Given the description of an element on the screen output the (x, y) to click on. 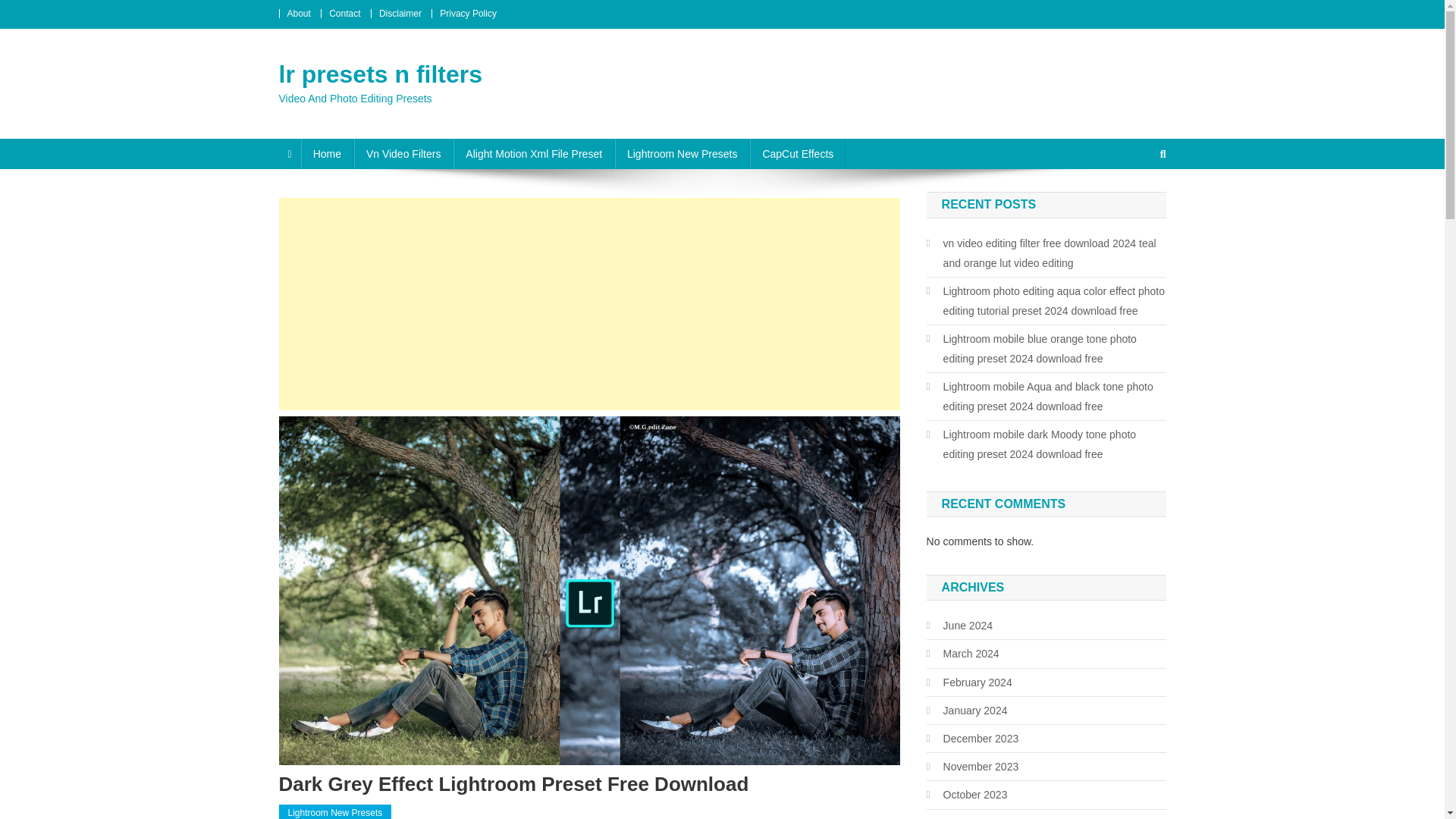
lr presets n filters (381, 73)
Disclaimer (400, 13)
Search (1133, 204)
Home (327, 153)
Lightroom New Presets (681, 153)
Vn Video Filters (402, 153)
CapCut Effects (797, 153)
Advertisement (589, 304)
Contact (344, 13)
Lightroom New Presets (335, 811)
Alight Motion Xml File Preset (533, 153)
About (298, 13)
Privacy Policy (467, 13)
